Given the description of an element on the screen output the (x, y) to click on. 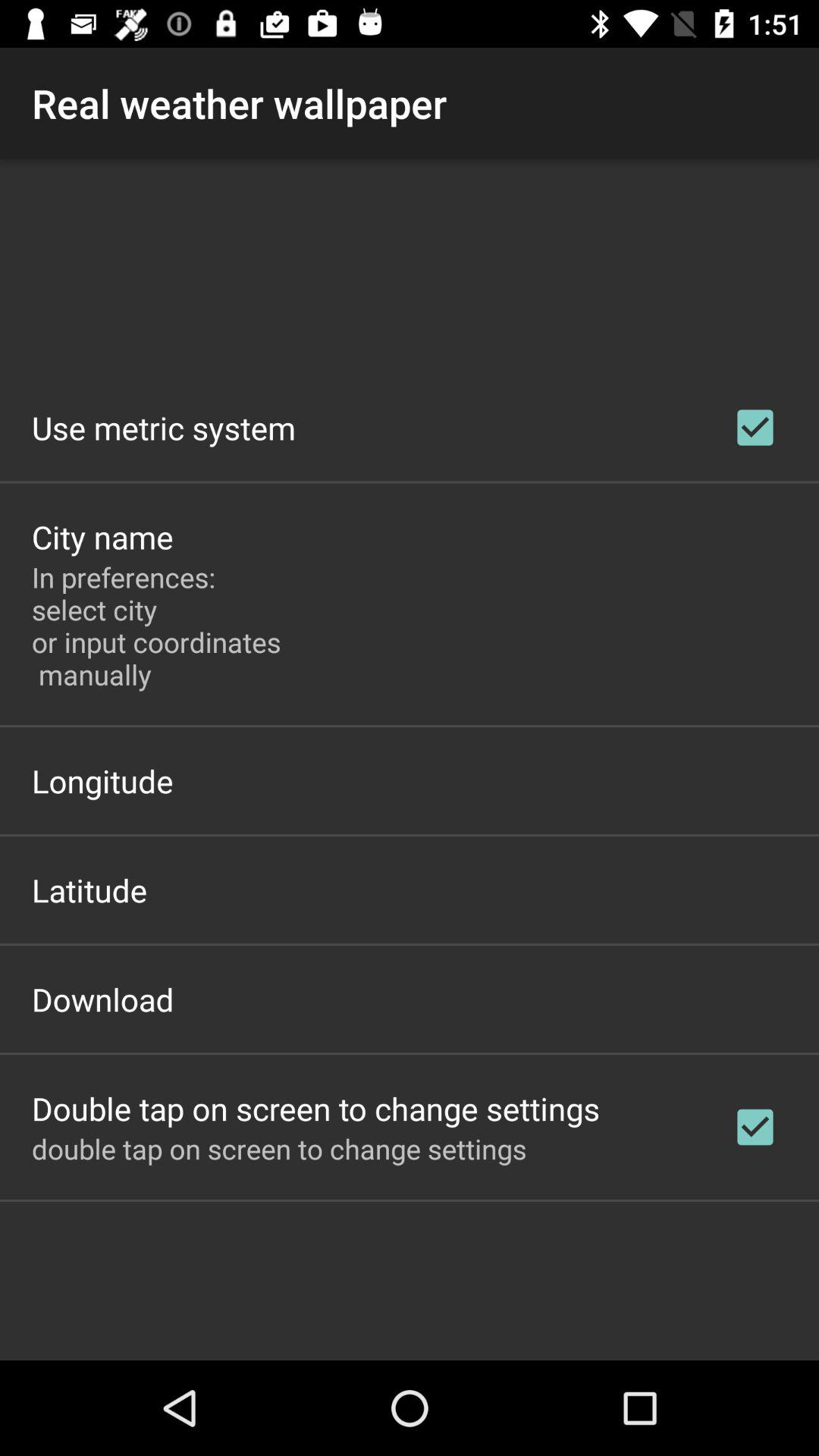
select app above in preferences select item (102, 536)
